Given the description of an element on the screen output the (x, y) to click on. 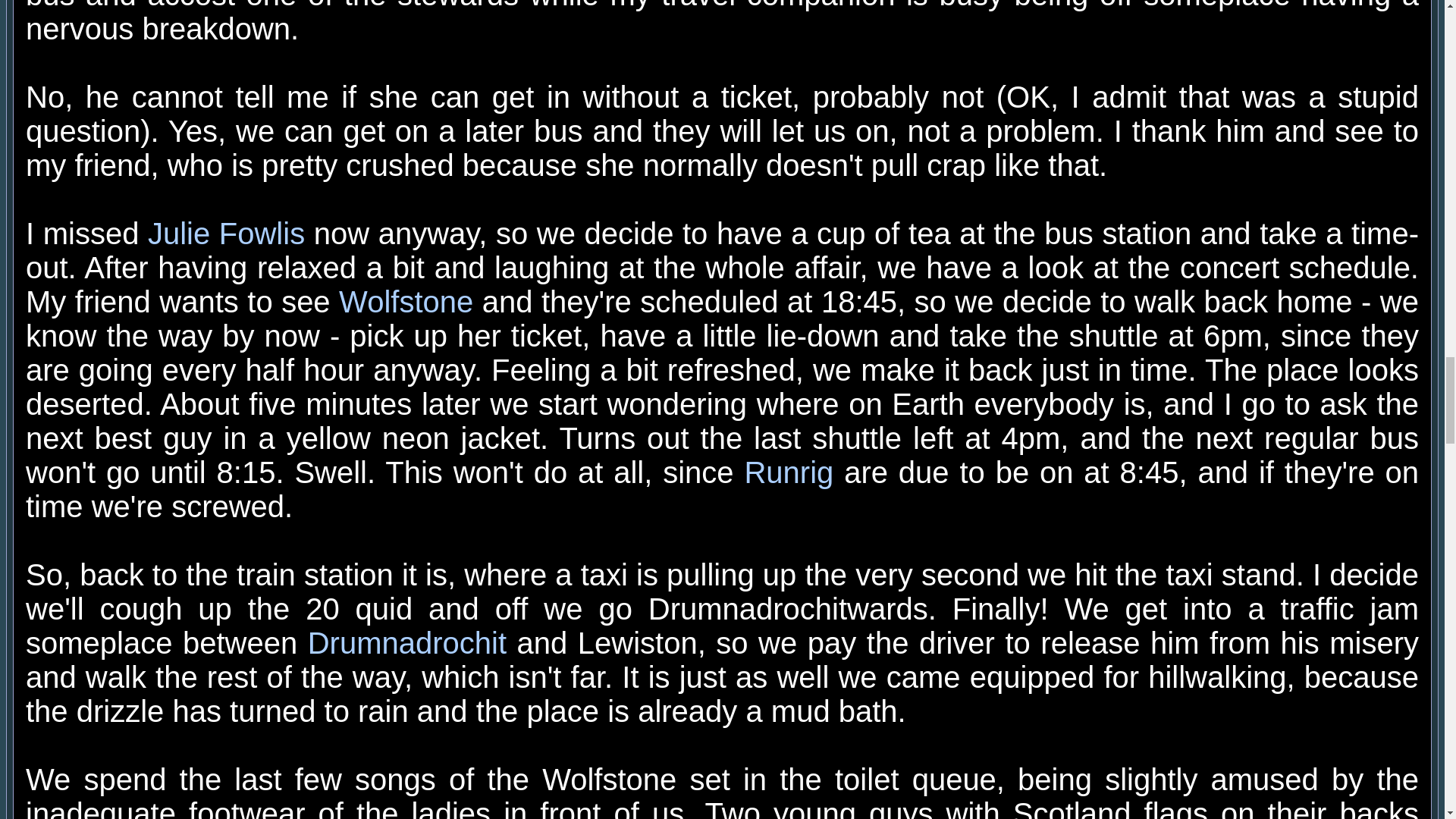
Julie Fowlis (226, 233)
Wolfstone (406, 301)
Runrig (788, 471)
Drumnadrochit (406, 643)
